Given the description of an element on the screen output the (x, y) to click on. 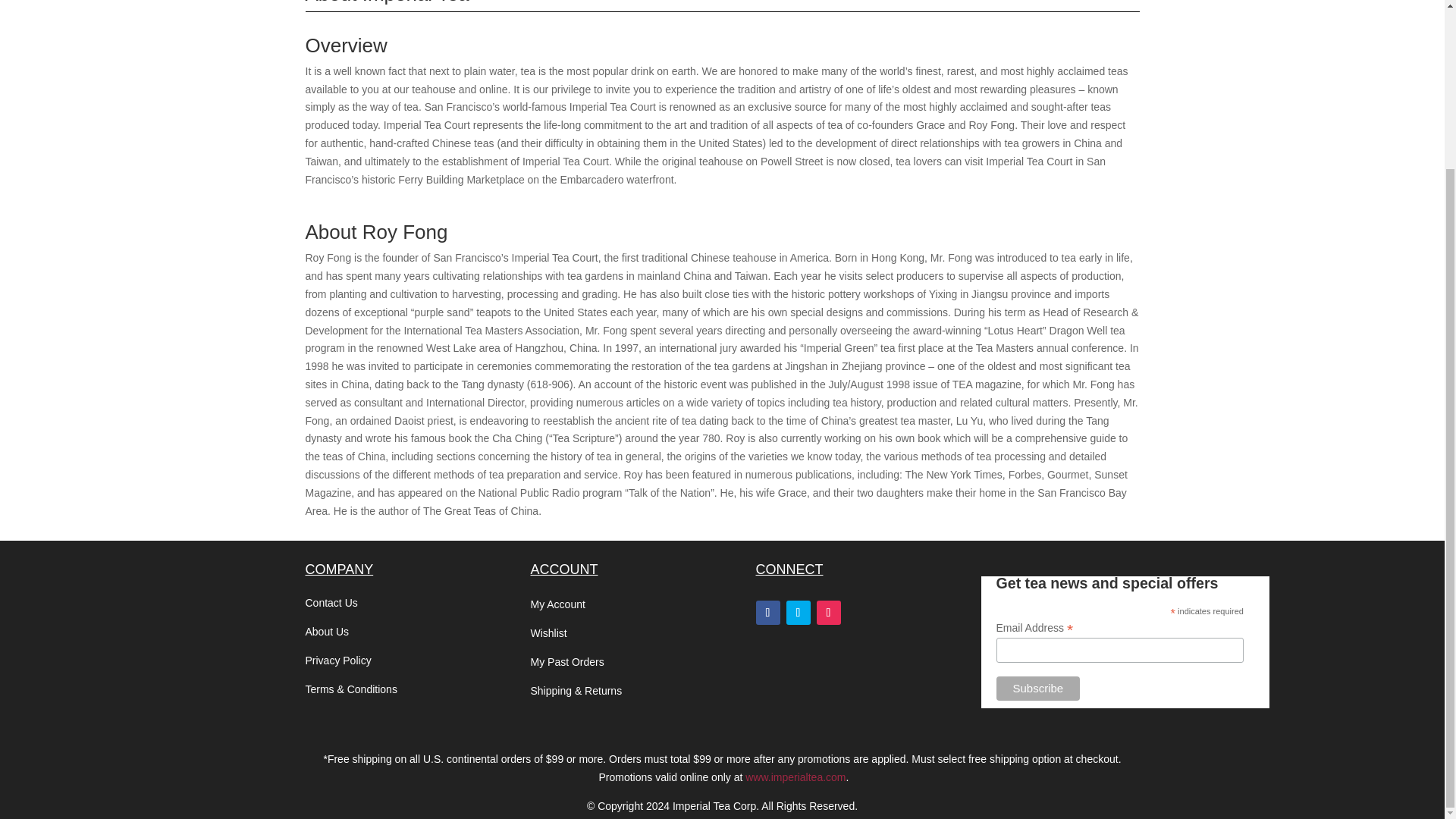
Follow on Instagram (827, 612)
Follow on Facebook (766, 612)
Subscribe (1037, 688)
Follow on Twitter (797, 612)
